Given the description of an element on the screen output the (x, y) to click on. 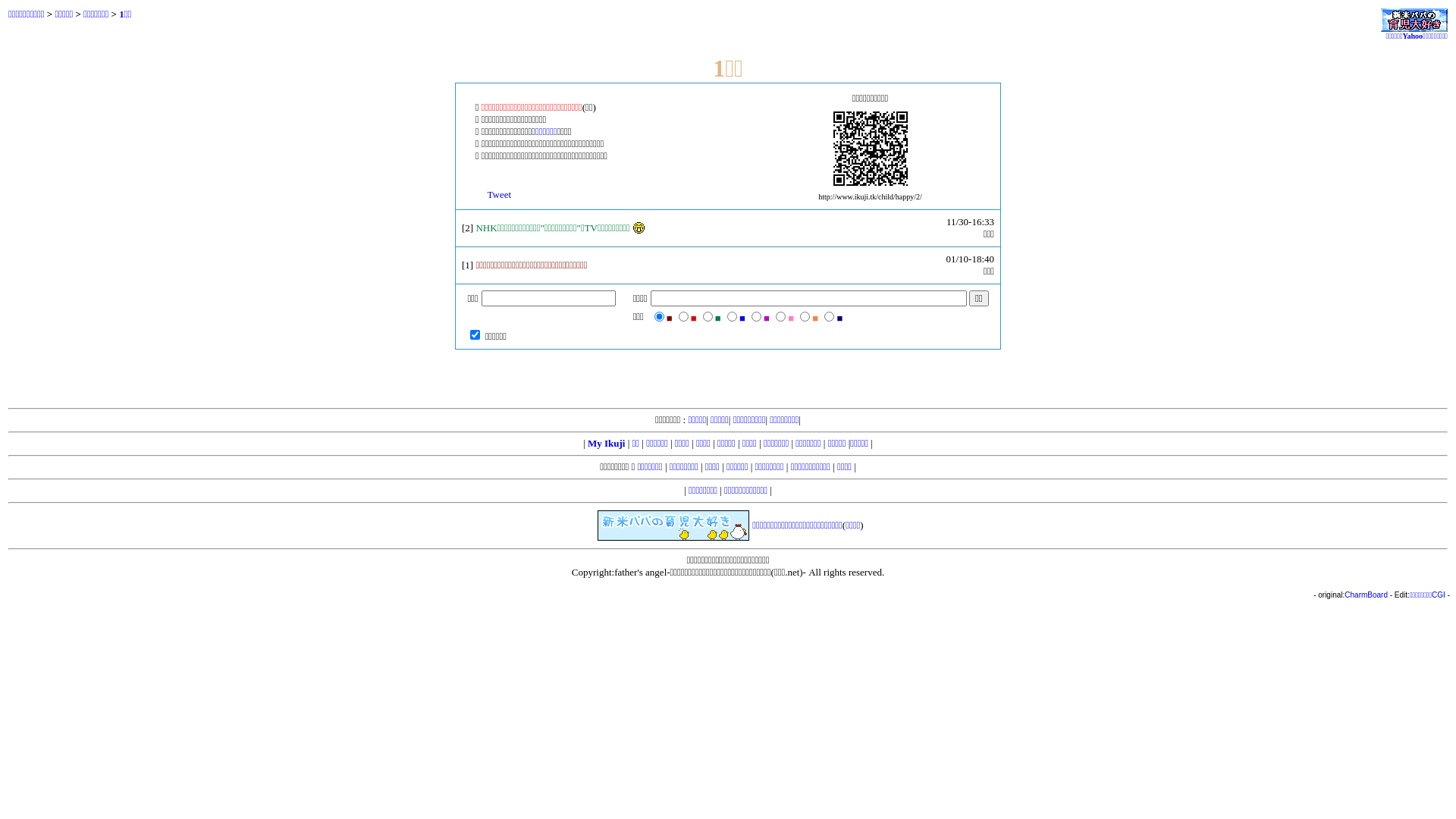
CharmBoard Element type: text (1365, 594)
father's angel Element type: text (640, 571)
Tweet Element type: text (498, 194)
My Ikuji Element type: text (605, 442)
